Given the description of an element on the screen output the (x, y) to click on. 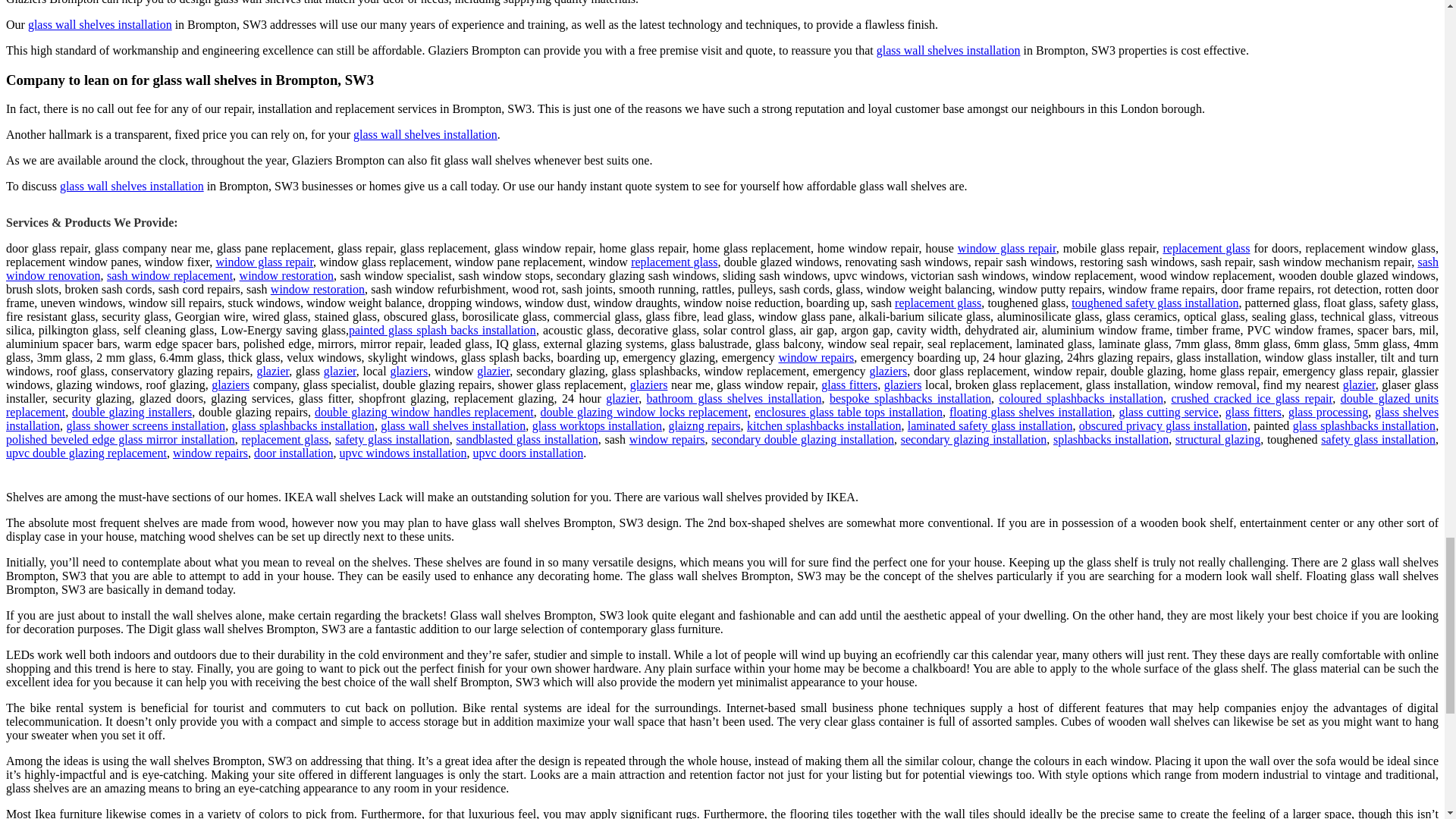
glass wall shelves installation (131, 185)
glass wall shelves installation (425, 133)
glass wall shelves installation (948, 50)
glass wall shelves installation (99, 24)
